Given the description of an element on the screen output the (x, y) to click on. 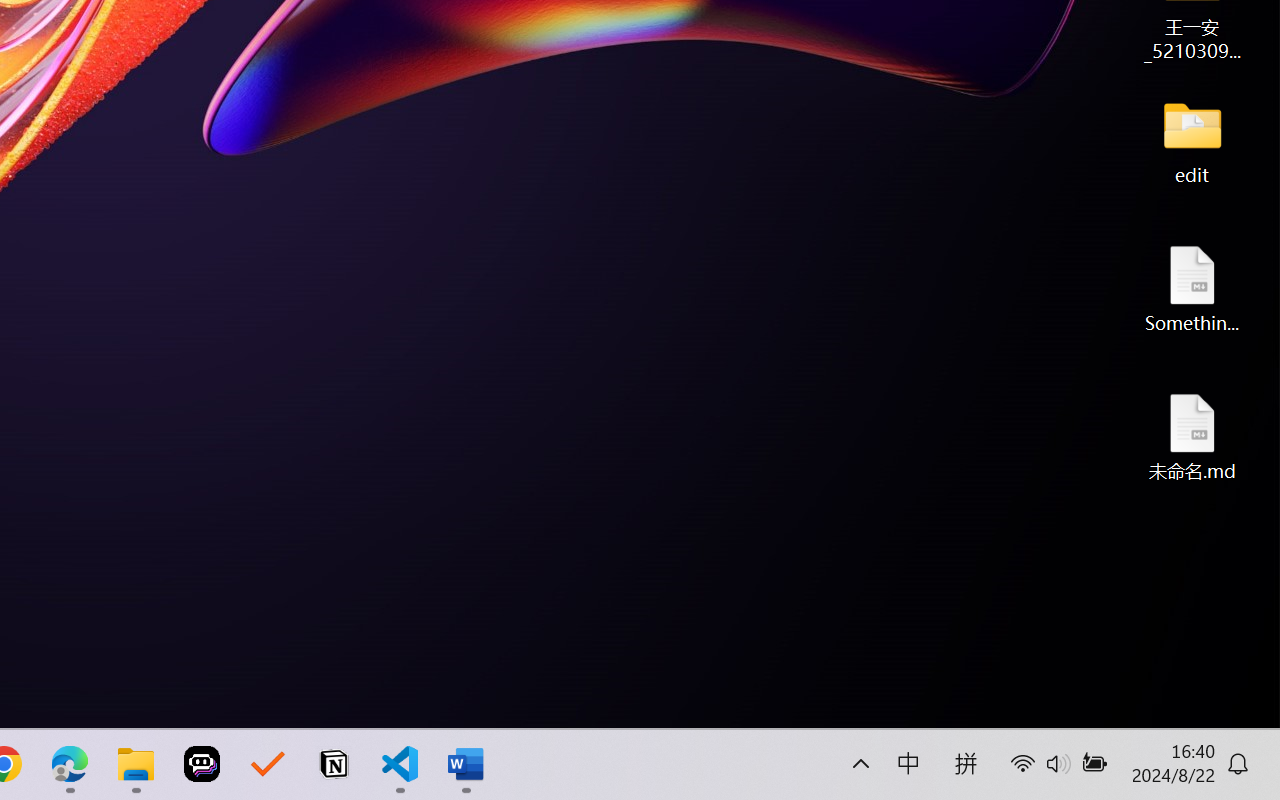
Poe (201, 764)
Something.md (1192, 288)
Notion (333, 764)
edit (1192, 140)
